Given the description of an element on the screen output the (x, y) to click on. 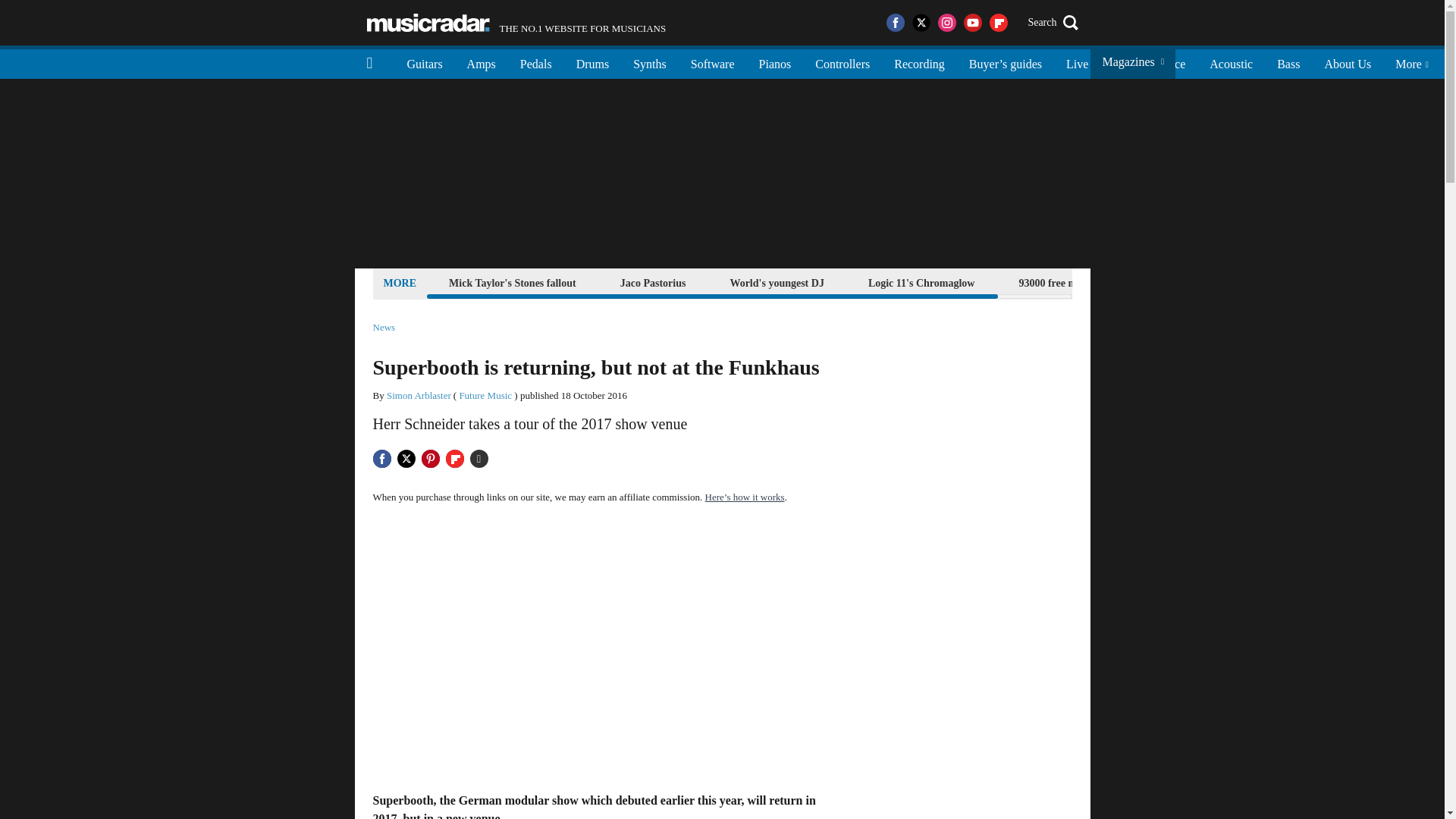
Software (712, 61)
Music Radar (427, 22)
DJ (1119, 61)
Controllers (842, 61)
Jaco Pastorius (652, 282)
World's youngest DJ (775, 282)
Amps (481, 61)
Drums (592, 61)
Pedals (516, 22)
93000 free music samples (536, 61)
Acoustic (1075, 282)
Advice (1230, 61)
News (1167, 61)
Pianos (384, 327)
